Given the description of an element on the screen output the (x, y) to click on. 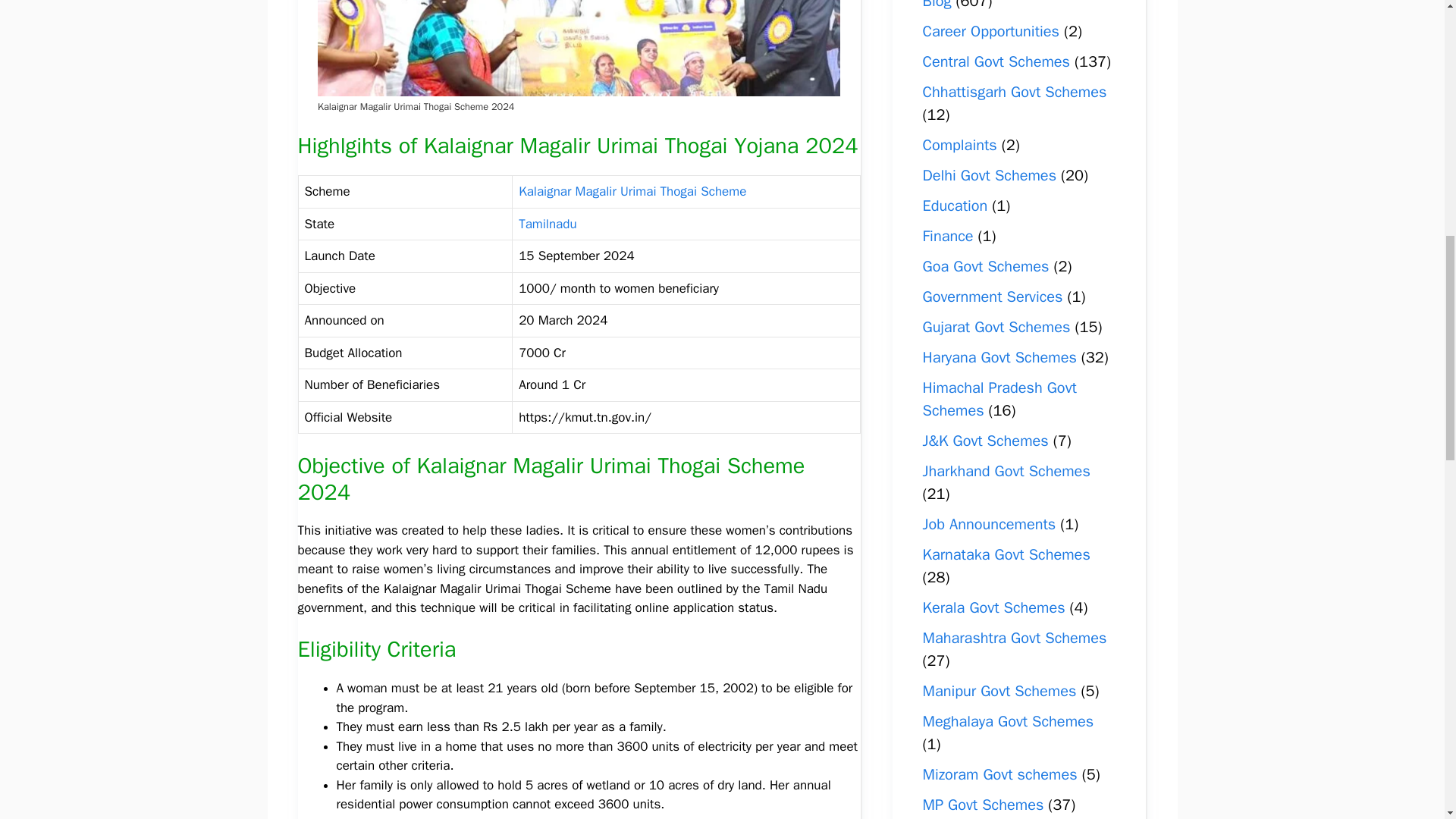
Kalaignar Magalir Urimai Thogai Scheme (578, 48)
Kalaignar Magalir Urimai Thogai Scheme (631, 191)
Tamilnadu (547, 223)
Scroll back to top (1406, 720)
